Given the description of an element on the screen output the (x, y) to click on. 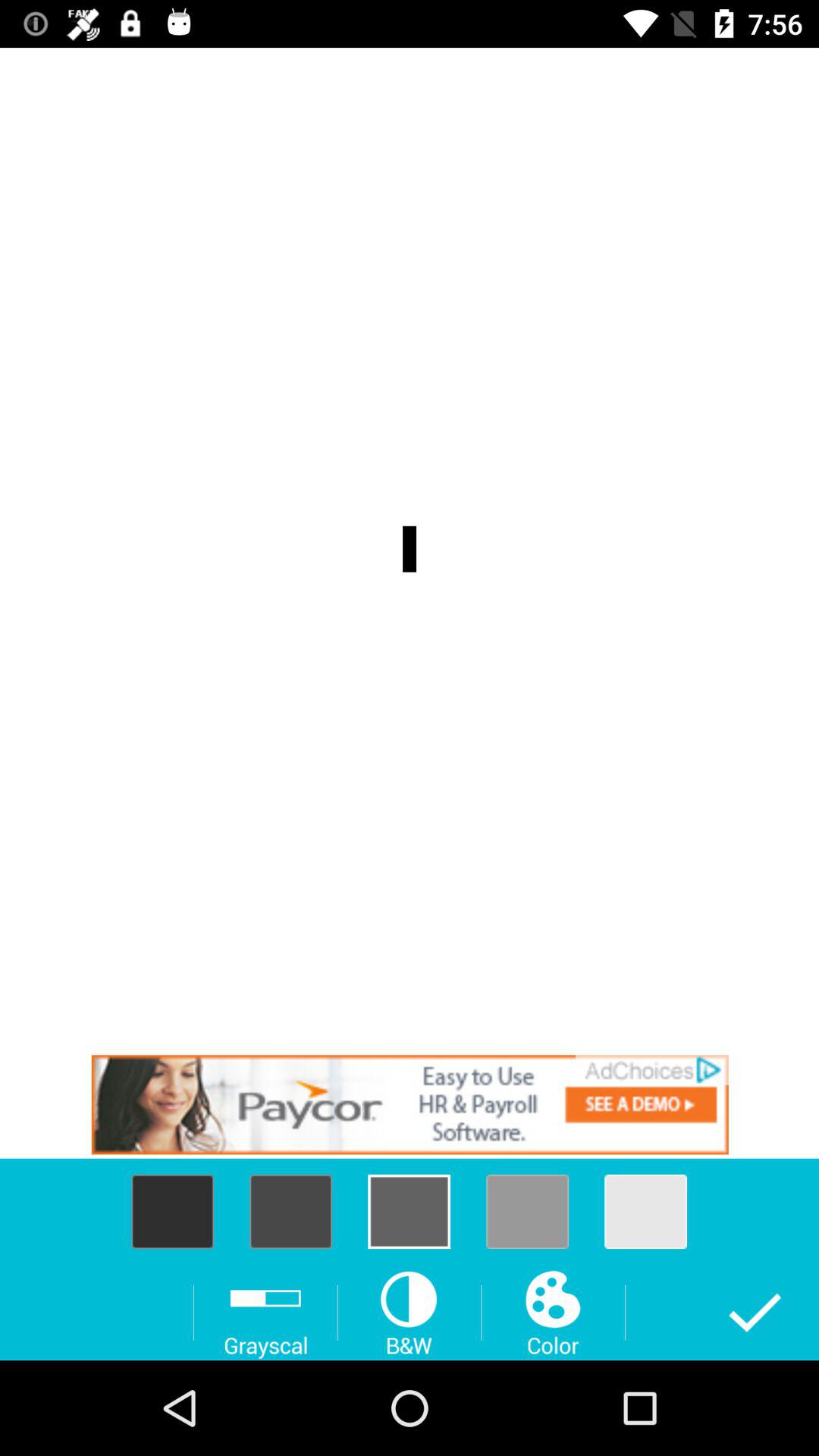
camera to pdf scanner (409, 1104)
